Given the description of an element on the screen output the (x, y) to click on. 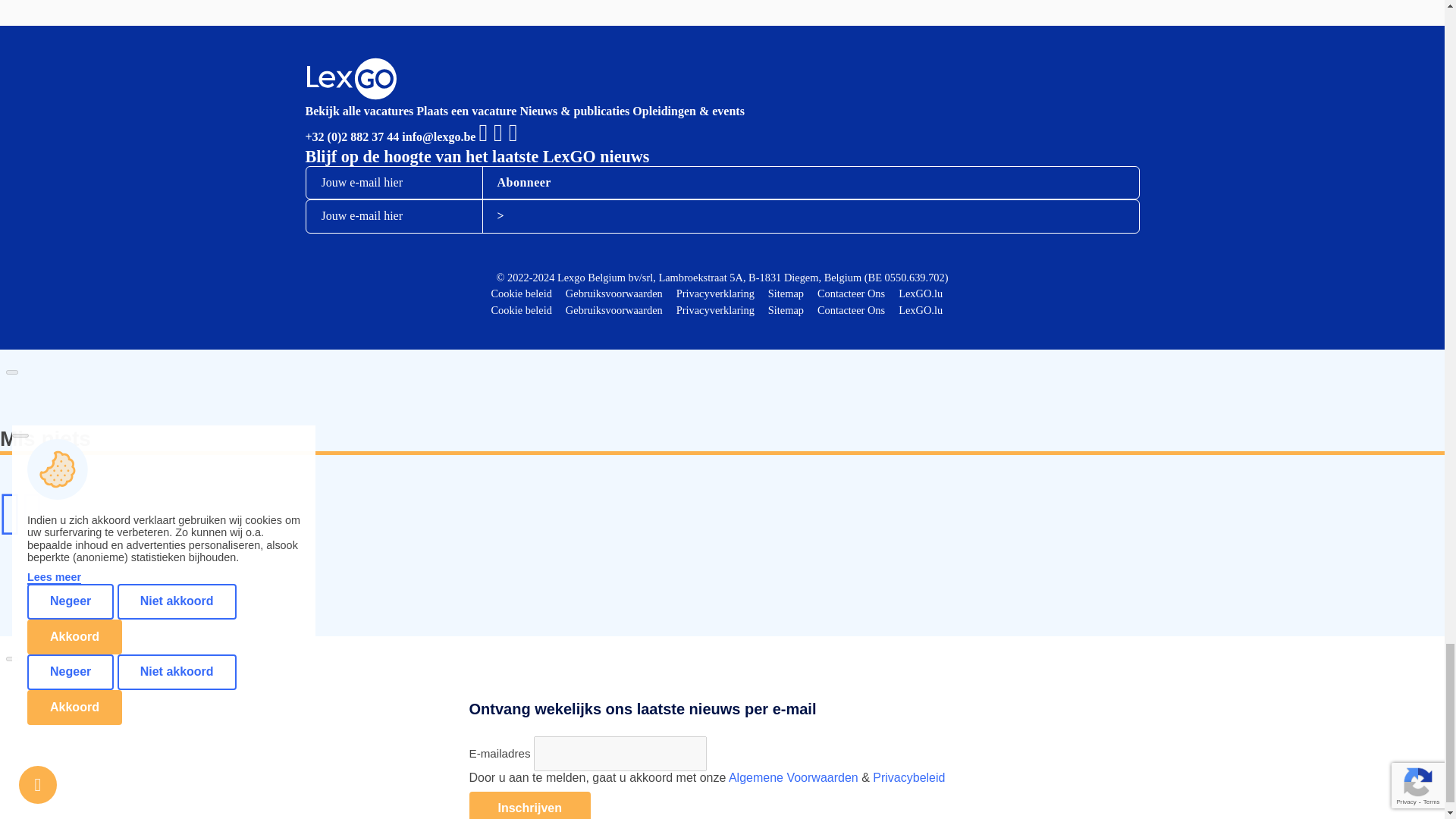
Abonneer (523, 183)
